Given the description of an element on the screen output the (x, y) to click on. 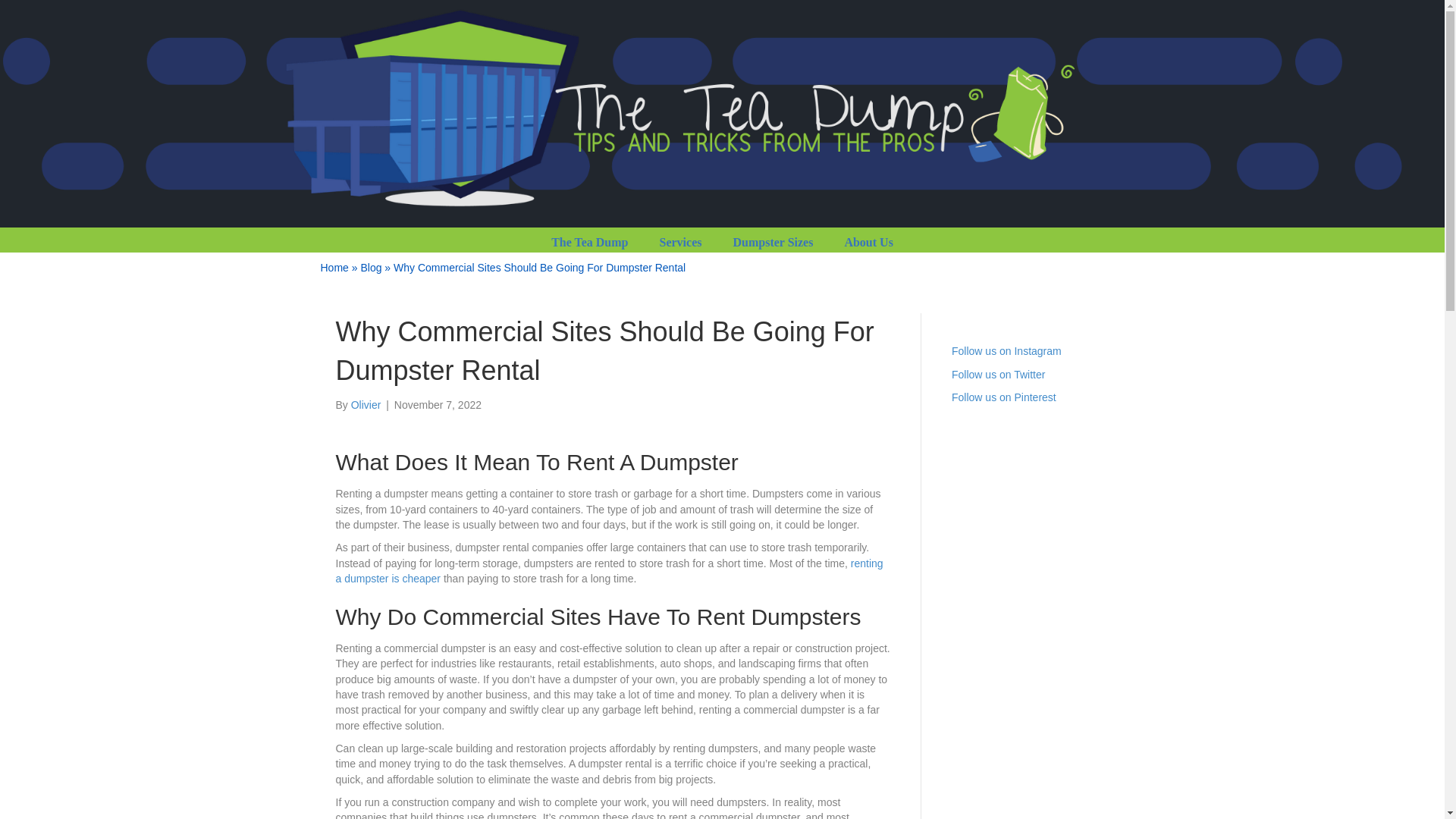
Follow us on Pinterest (1004, 397)
Dumpster Sizes (772, 242)
Blog (370, 267)
Home (333, 267)
Follow us on Instagram (1006, 350)
About Us (867, 242)
Olivier (365, 404)
Services (681, 242)
Follow us on Twitter (998, 374)
The Tea Dump (589, 242)
renting a dumpster is cheaper (608, 570)
